Given the description of an element on the screen output the (x, y) to click on. 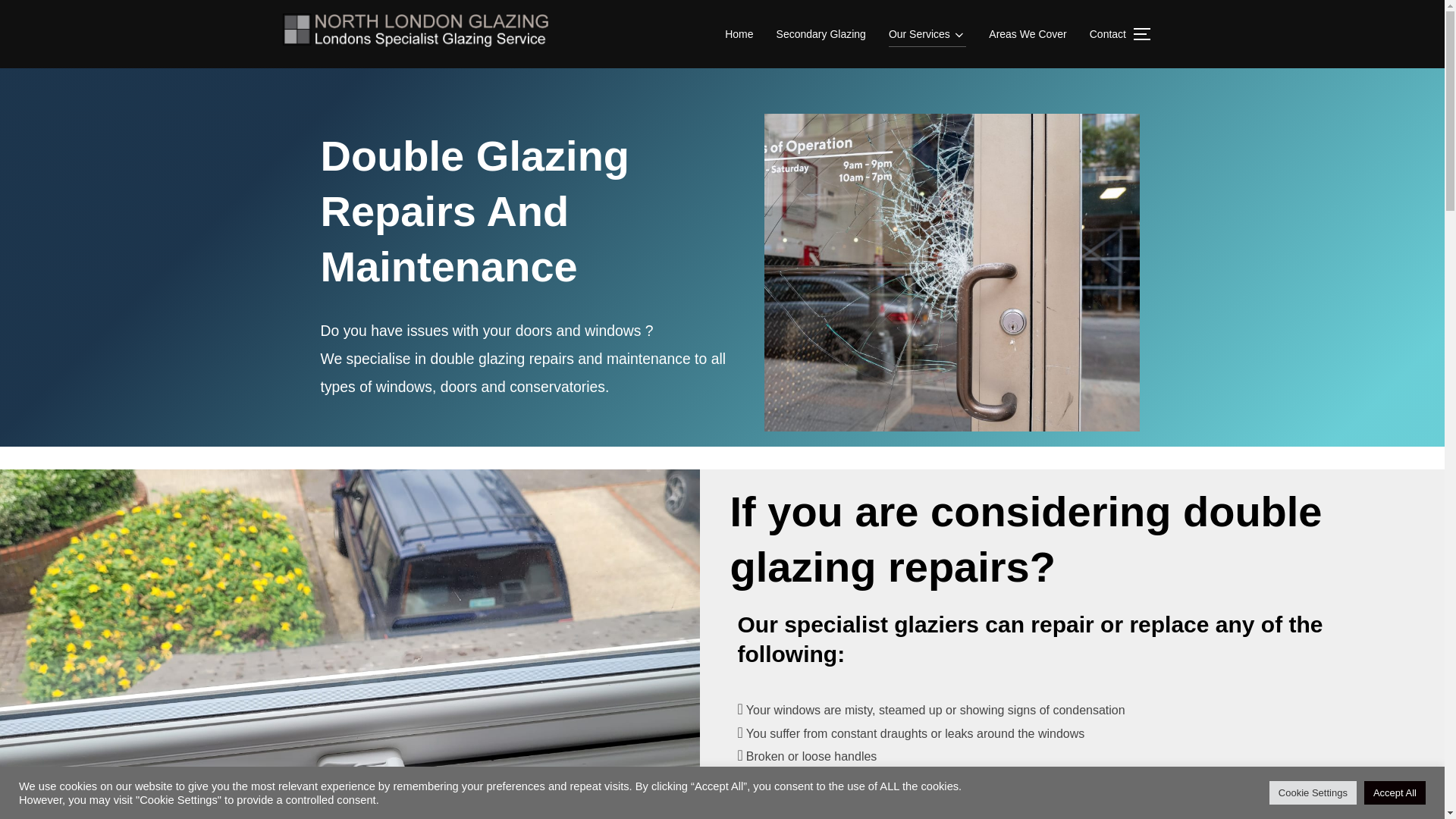
Contact (1107, 33)
Secondary Glazing (821, 33)
Home (738, 33)
Areas We Cover (1026, 33)
Our Services (927, 33)
